Given the description of an element on the screen output the (x, y) to click on. 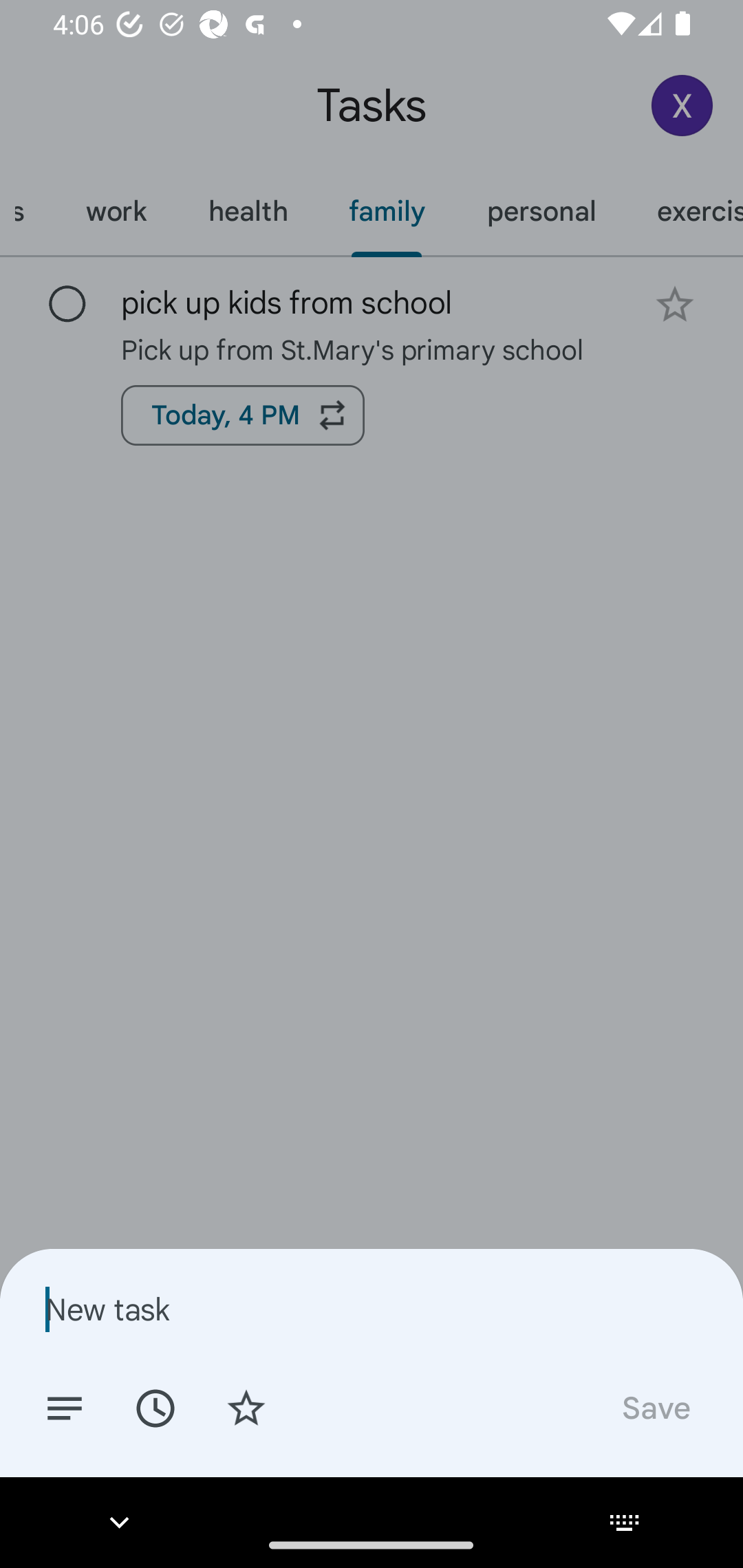
New task (371, 1308)
Save (655, 1407)
Add details (64, 1407)
Set date/time (154, 1407)
Add star (245, 1407)
